Given the description of an element on the screen output the (x, y) to click on. 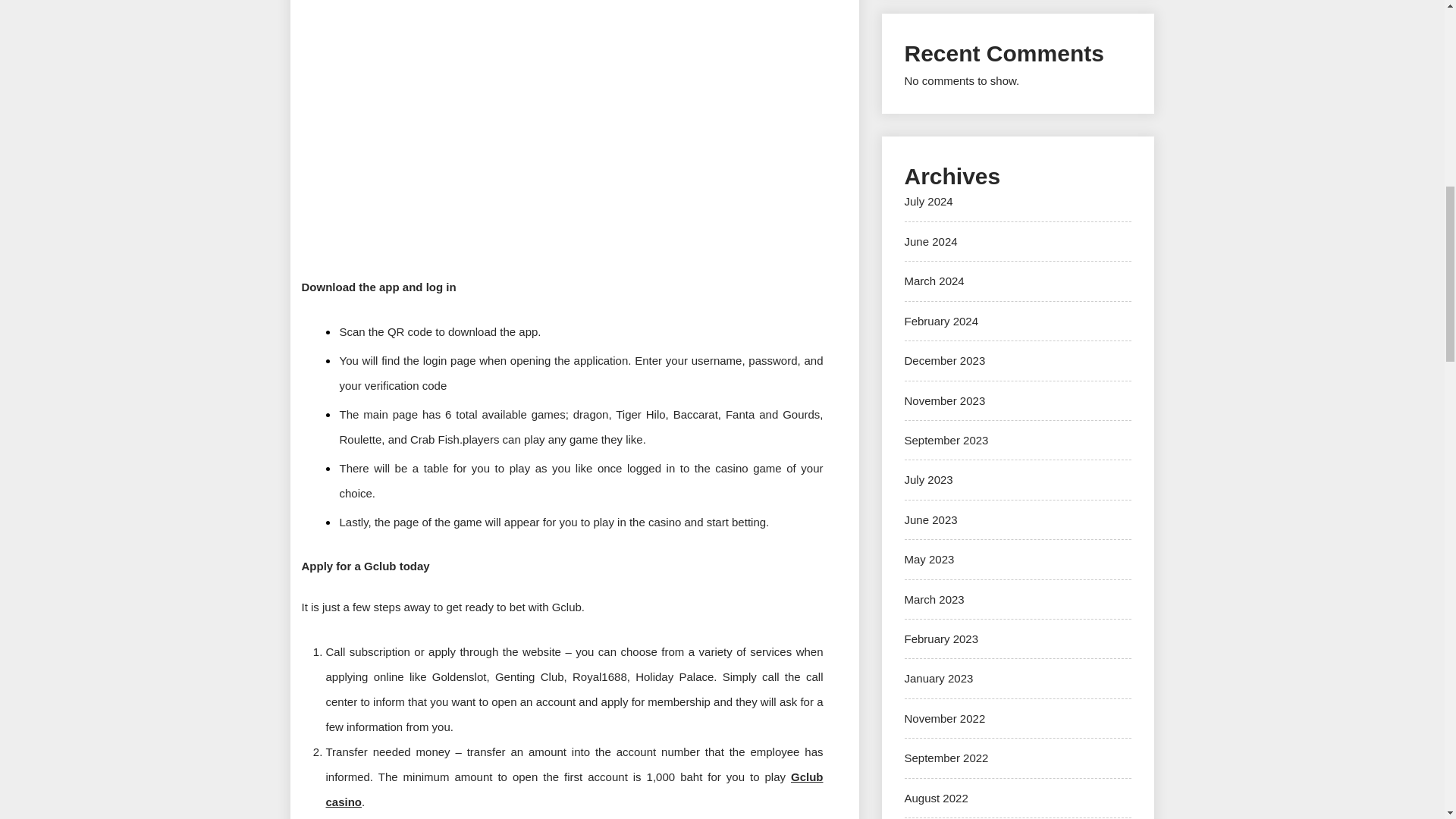
July 2023 (928, 479)
September 2022 (946, 757)
May 2023 (928, 558)
September 2023 (946, 440)
August 2022 (936, 797)
November 2023 (944, 400)
Gclub casino (575, 789)
March 2024 (933, 280)
February 2024 (941, 320)
June 2023 (930, 519)
July 2024 (928, 201)
November 2022 (944, 717)
January 2023 (938, 677)
February 2023 (941, 638)
June 2024 (930, 241)
